Given the description of an element on the screen output the (x, y) to click on. 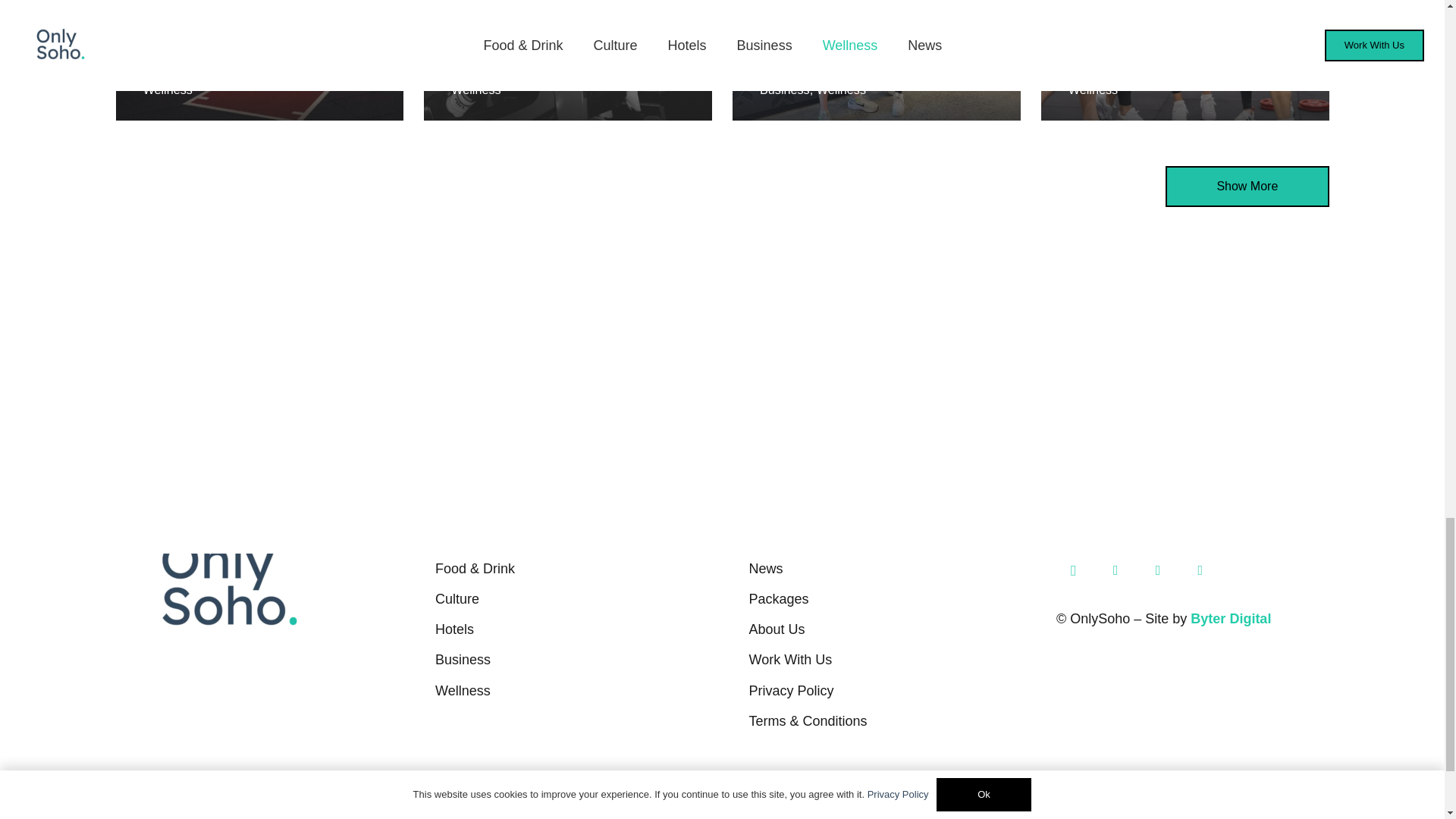
Wellness (1093, 89)
Business (784, 89)
Wellness (167, 89)
Wellness (841, 89)
Show More (1246, 186)
Wellness (475, 89)
